Given the description of an element on the screen output the (x, y) to click on. 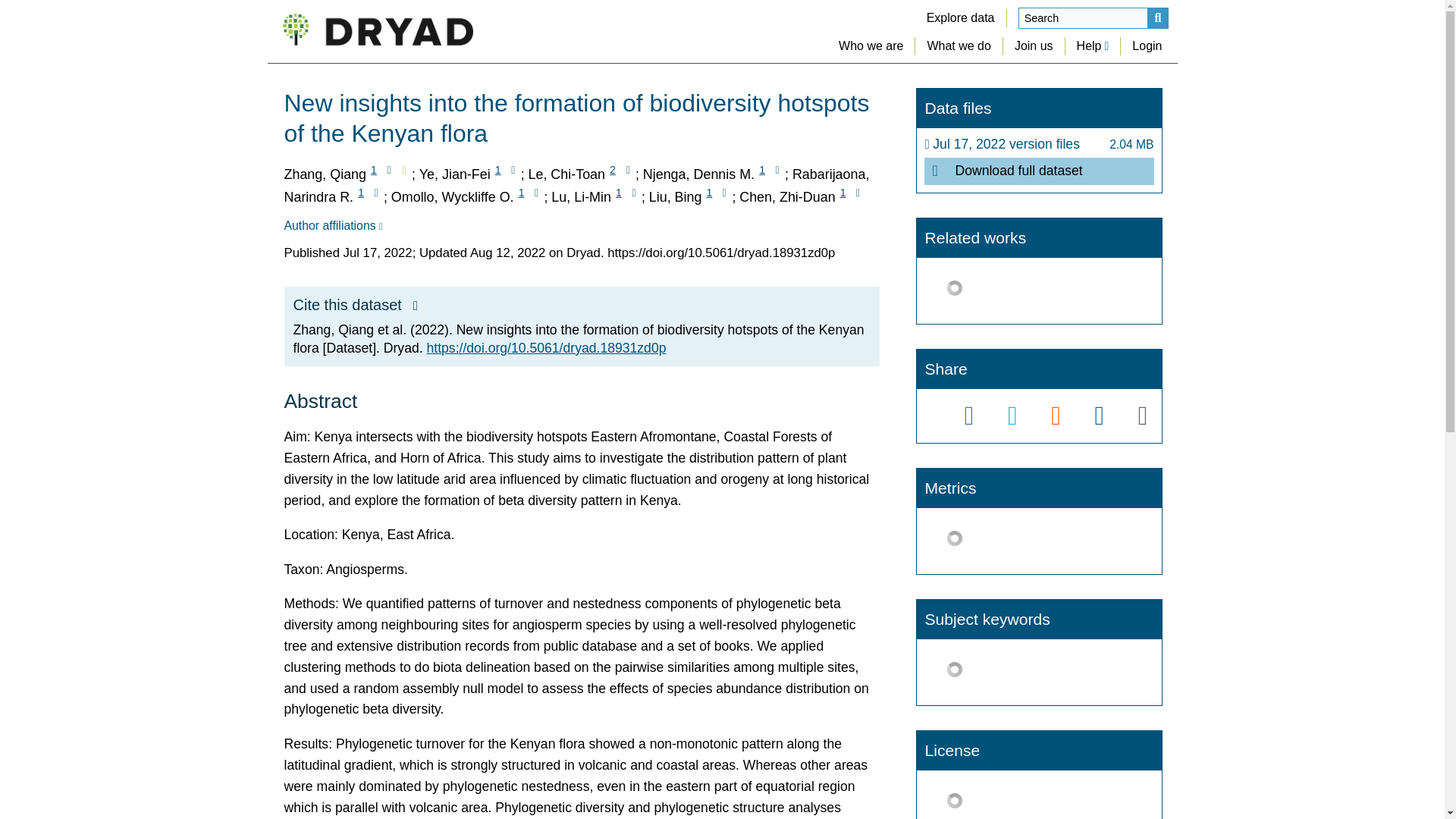
Author affiliations (332, 225)
Who we are (870, 45)
